Given the description of an element on the screen output the (x, y) to click on. 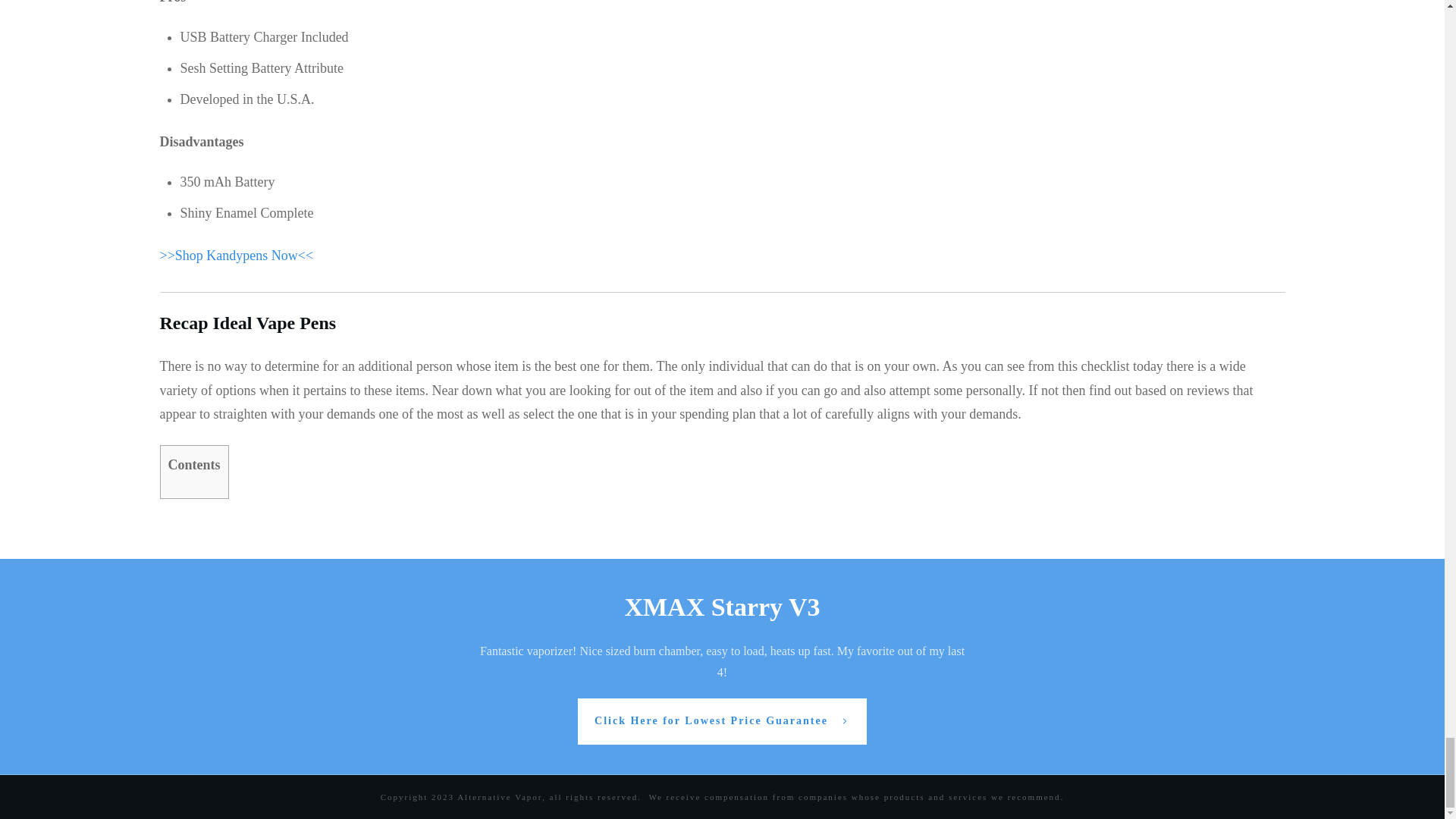
Click Here for Lowest Price Guarantee (722, 721)
